Given the description of an element on the screen output the (x, y) to click on. 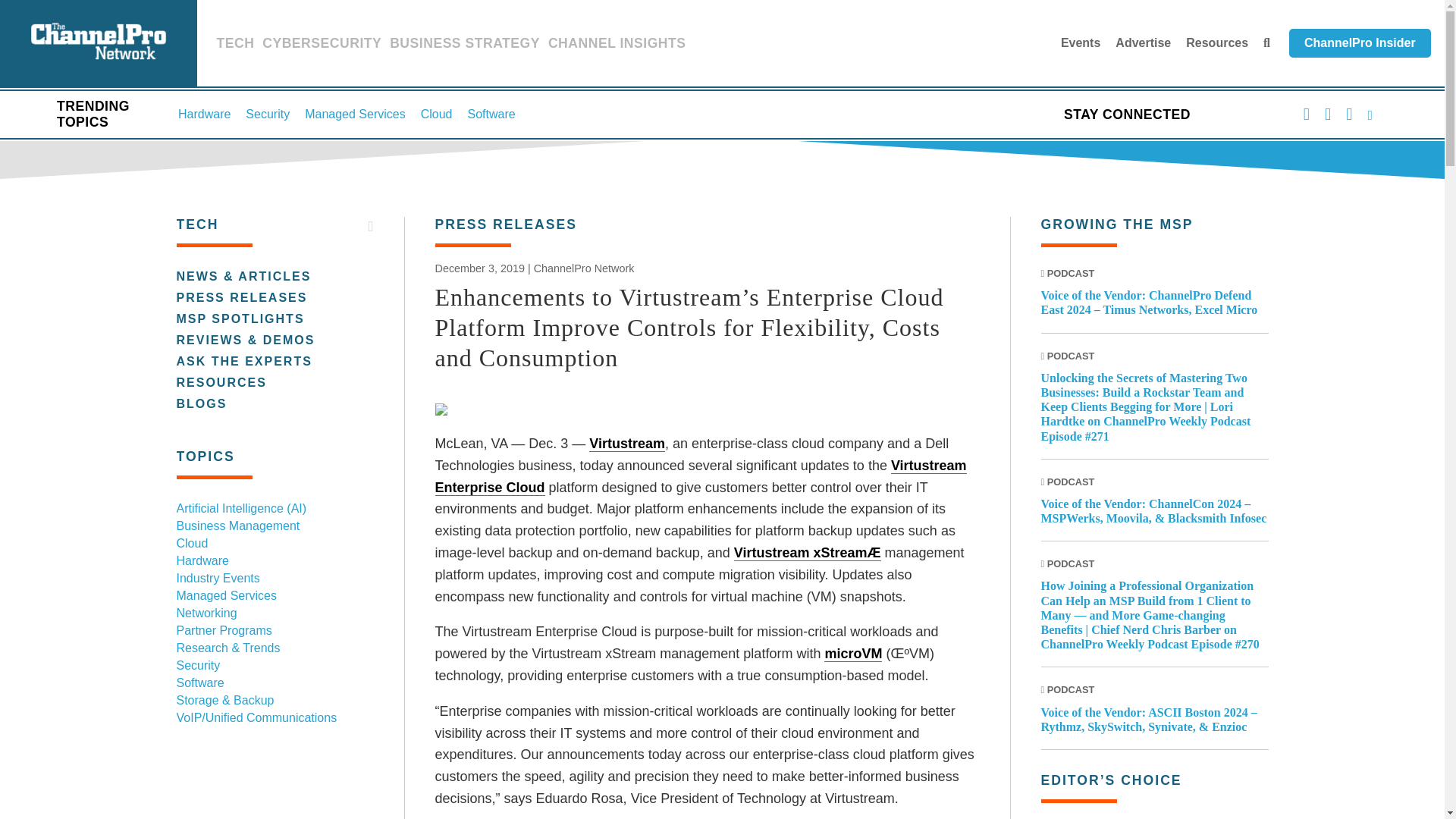
ChannelPro Insider (1359, 42)
Resources (1216, 42)
Events (1080, 42)
ChannelPro Insider (1359, 42)
Advertise (1142, 42)
CYBERSECURITY (322, 45)
CHANNEL INSIGHTS (616, 45)
BUSINESS STRATEGY (464, 45)
Posts by ChannelPro Network (584, 268)
